Given the description of an element on the screen output the (x, y) to click on. 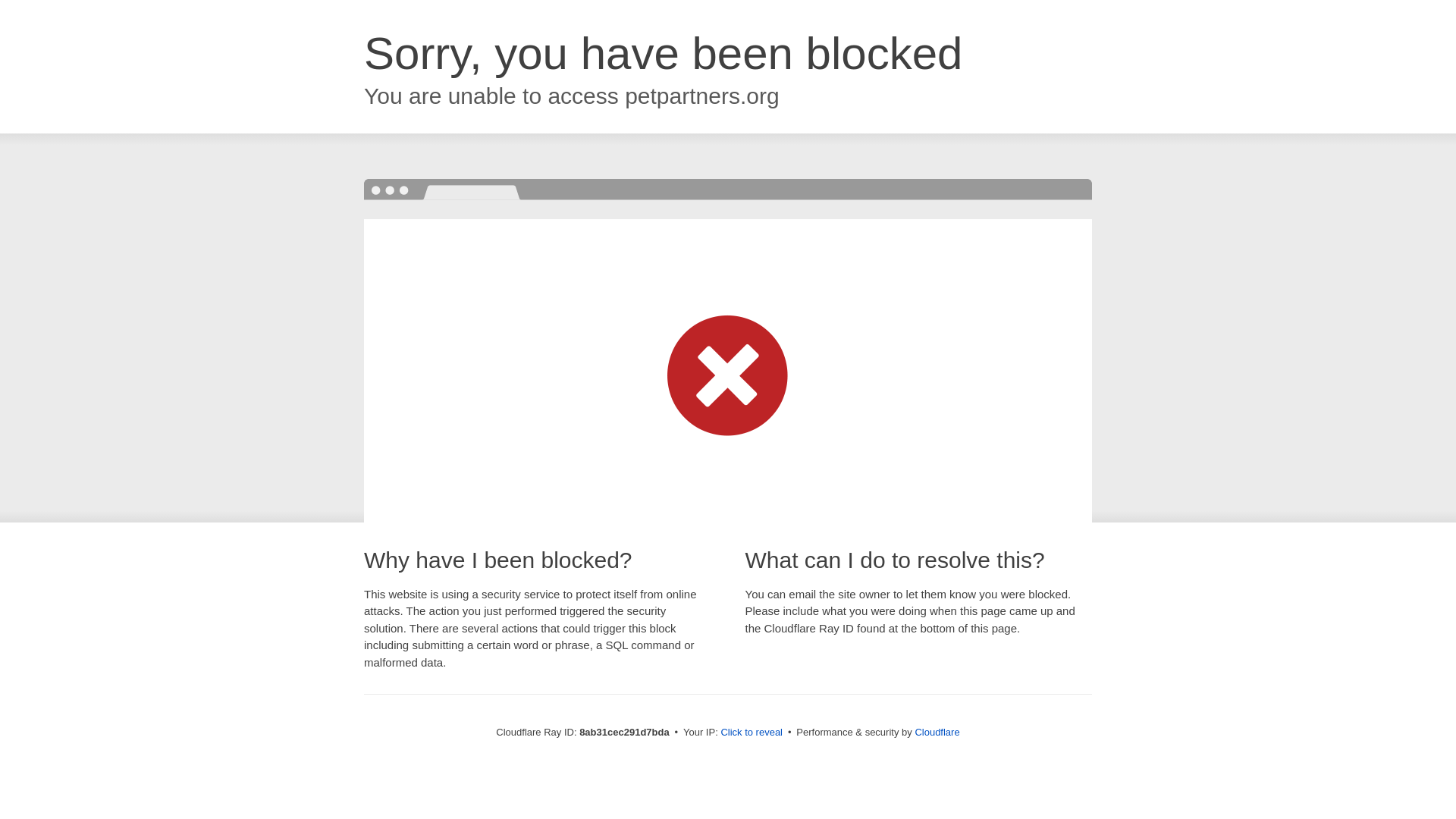
Click to reveal (751, 732)
Cloudflare (936, 731)
